Given the description of an element on the screen output the (x, y) to click on. 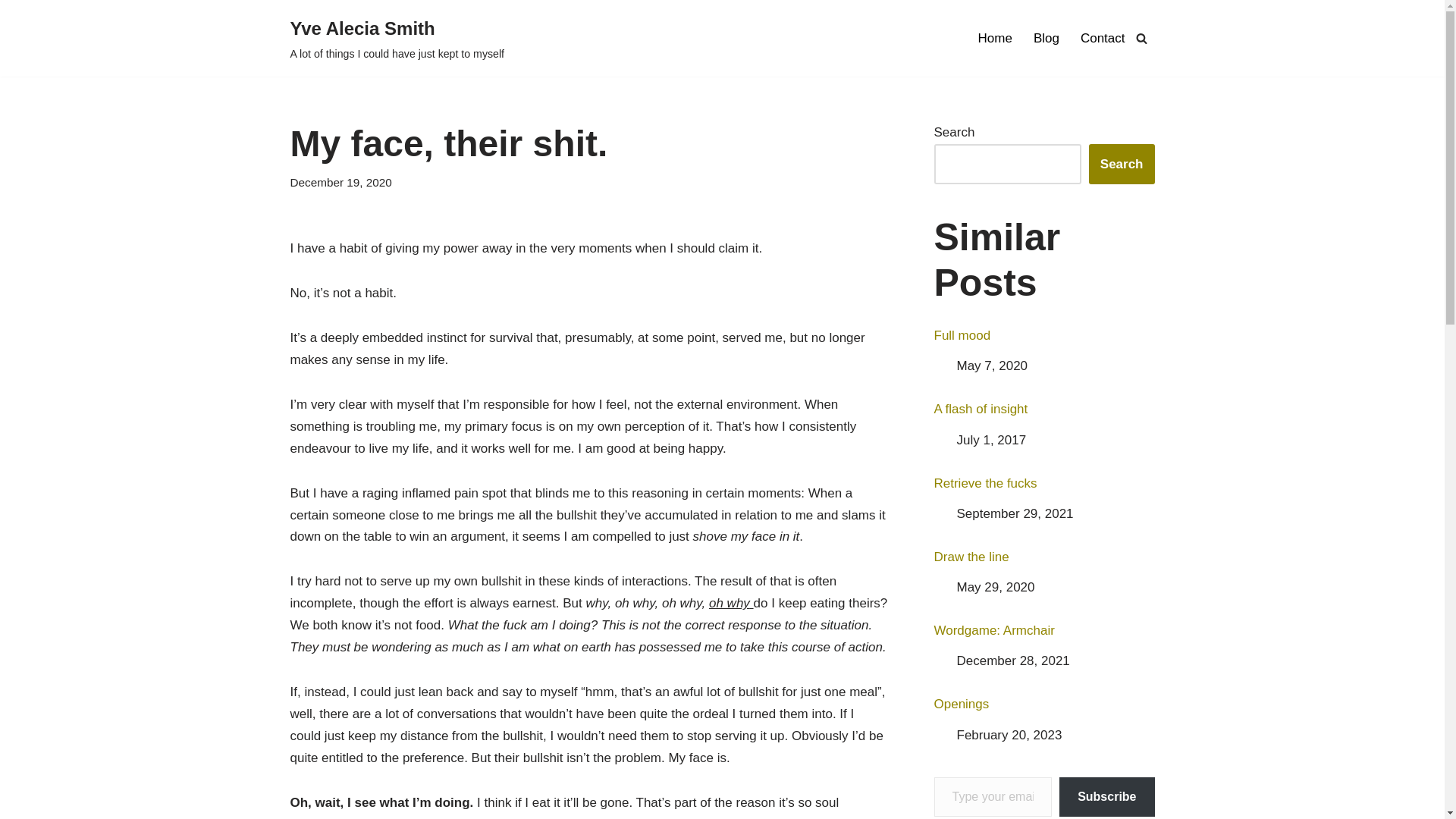
Search (1121, 164)
Draw the line (1044, 557)
Contact (1102, 37)
Home (994, 37)
Retrieve the fucks (1044, 483)
Blog (1046, 37)
Skip to content (11, 31)
Wordgame: Armchair (1044, 630)
A flash of insight (1044, 409)
